Given the description of an element on the screen output the (x, y) to click on. 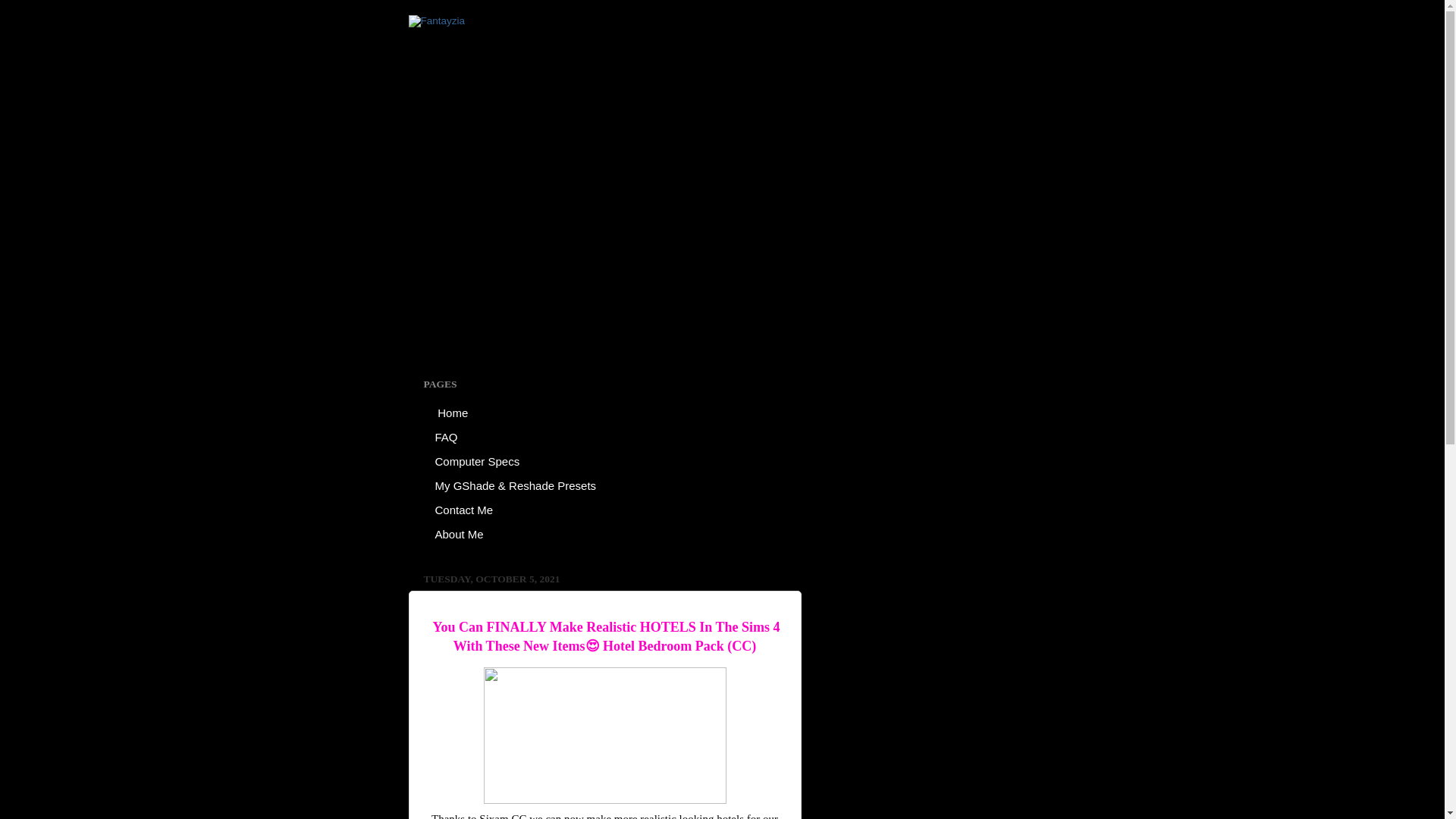
Computer Specs (477, 460)
FAQ (445, 436)
Home (451, 412)
About Me (459, 533)
Contact Me (464, 509)
